Given the description of an element on the screen output the (x, y) to click on. 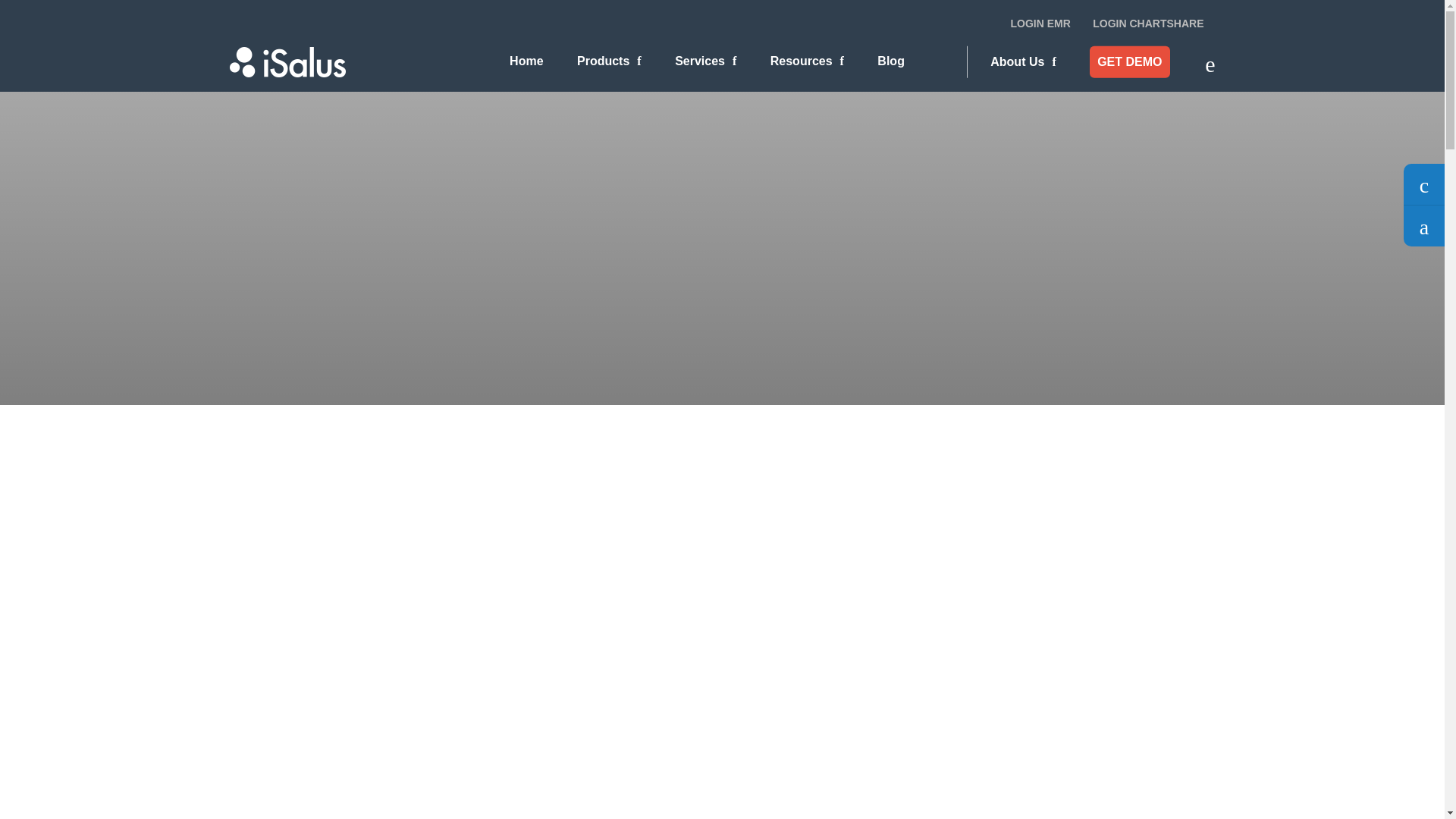
LOGIN CHARTSHARE (1147, 22)
Resources (807, 61)
Blog (890, 61)
LOGIN EMR (1040, 22)
About Us (1022, 61)
Services (705, 61)
Home (526, 61)
Products (609, 61)
GET DEMO (1129, 60)
